Given the description of an element on the screen output the (x, y) to click on. 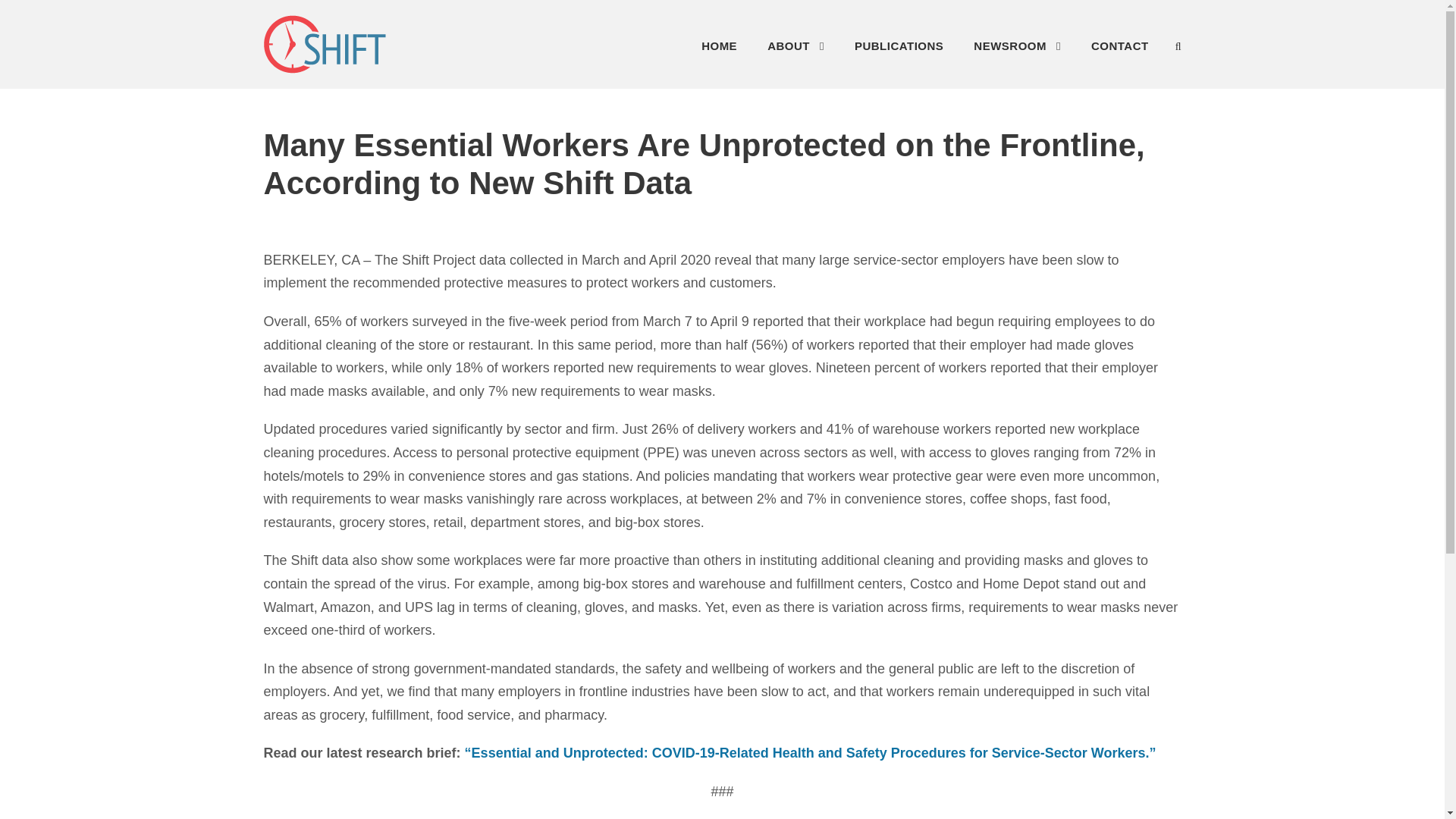
NEWSROOM (1017, 50)
CONTACT (1119, 50)
ABOUT (795, 50)
HOME (718, 50)
PUBLICATIONS (898, 50)
